Given the description of an element on the screen output the (x, y) to click on. 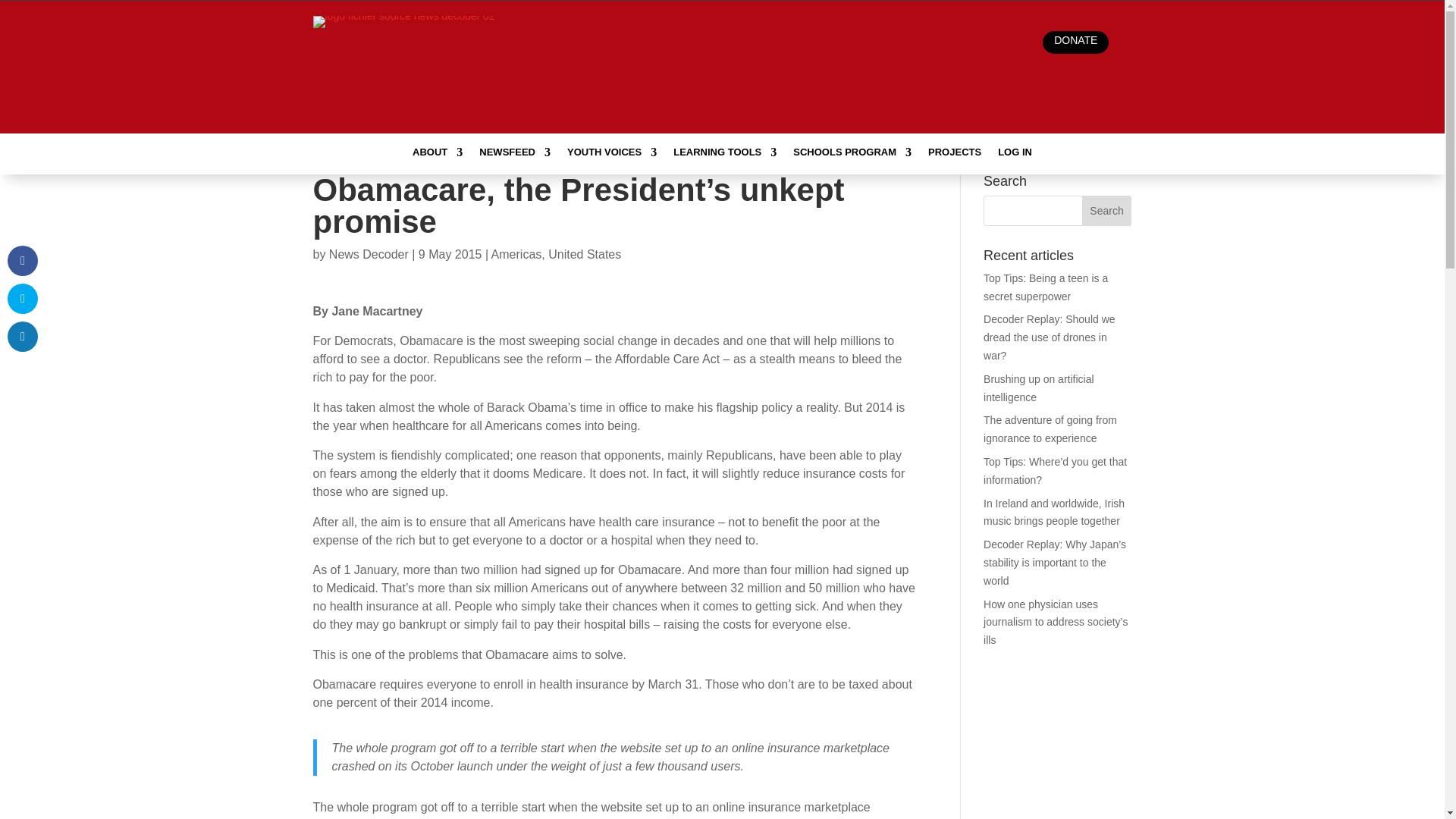
DONATE (1075, 42)
Posts by News Decoder (369, 254)
logo fichier source news decoder 02 (404, 40)
YOUTH VOICES (611, 155)
LEARNING TOOLS (724, 155)
Search (1106, 210)
NEWSFEED (514, 155)
ABOUT (437, 155)
